Given the description of an element on the screen output the (x, y) to click on. 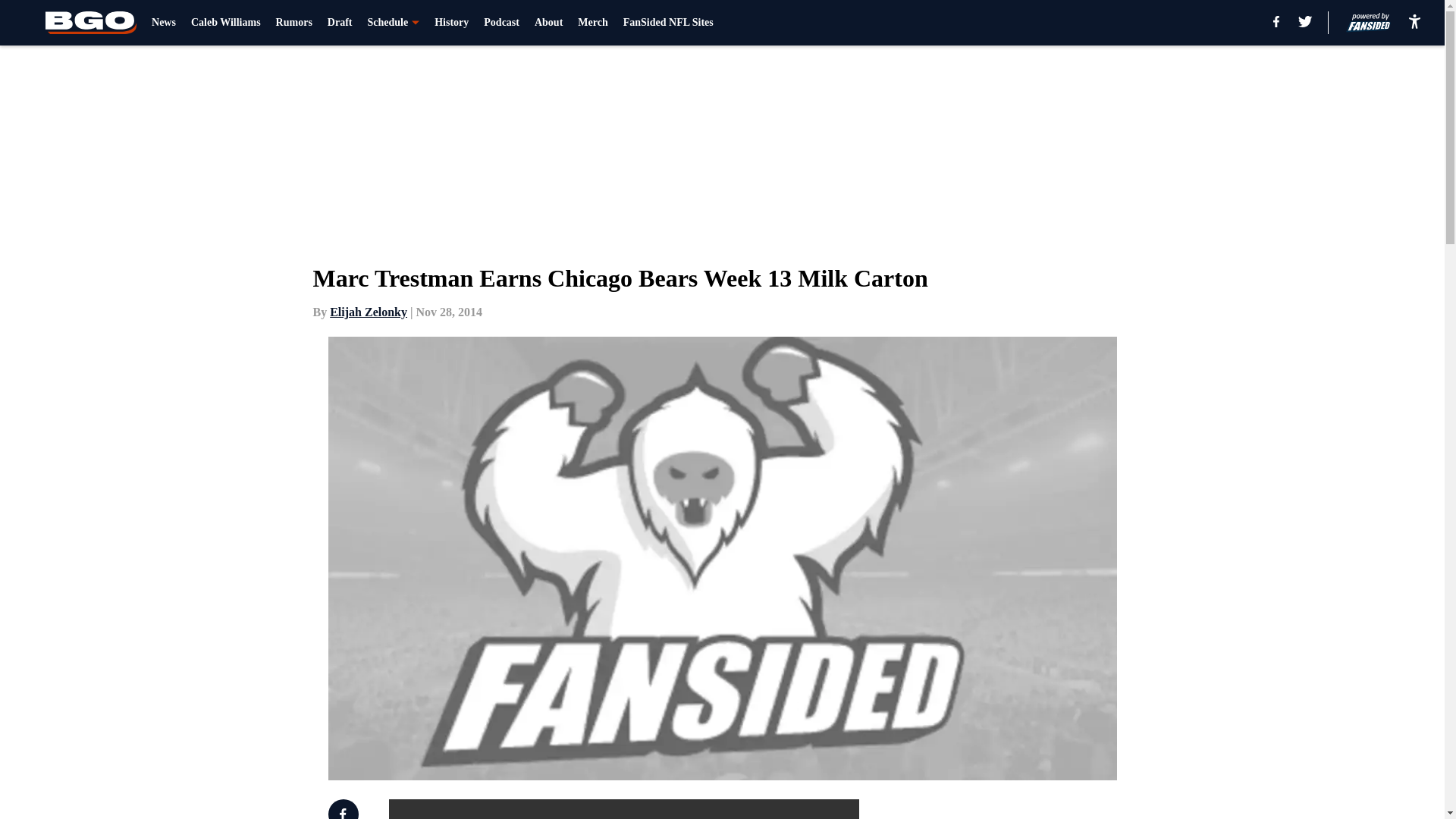
About (548, 22)
Merch (592, 22)
News (163, 22)
History (450, 22)
3rd party ad content (1047, 809)
Elijah Zelonky (368, 311)
Rumors (294, 22)
Podcast (501, 22)
Caleb Williams (225, 22)
FanSided NFL Sites (668, 22)
Draft (339, 22)
